Given the description of an element on the screen output the (x, y) to click on. 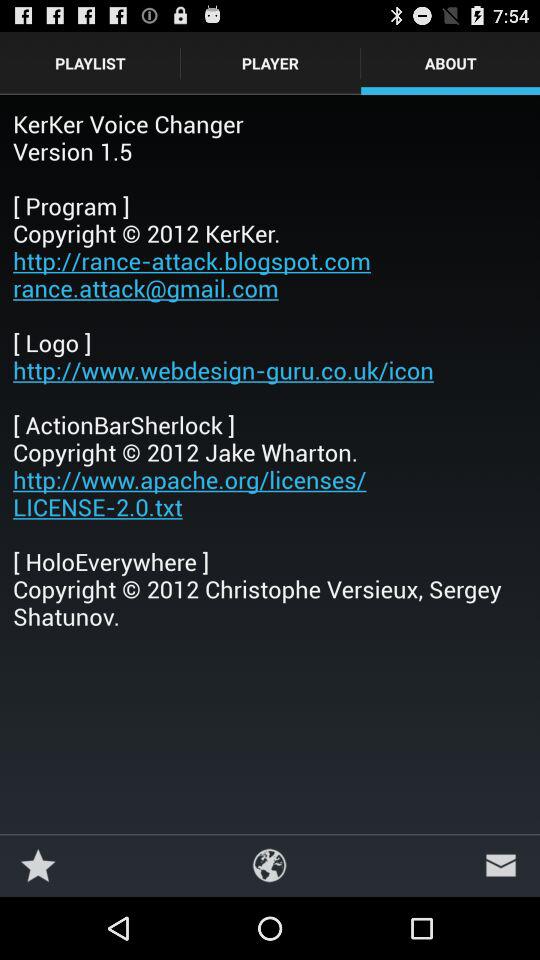
choose the icon below kerker voice changer item (38, 864)
